Given the description of an element on the screen output the (x, y) to click on. 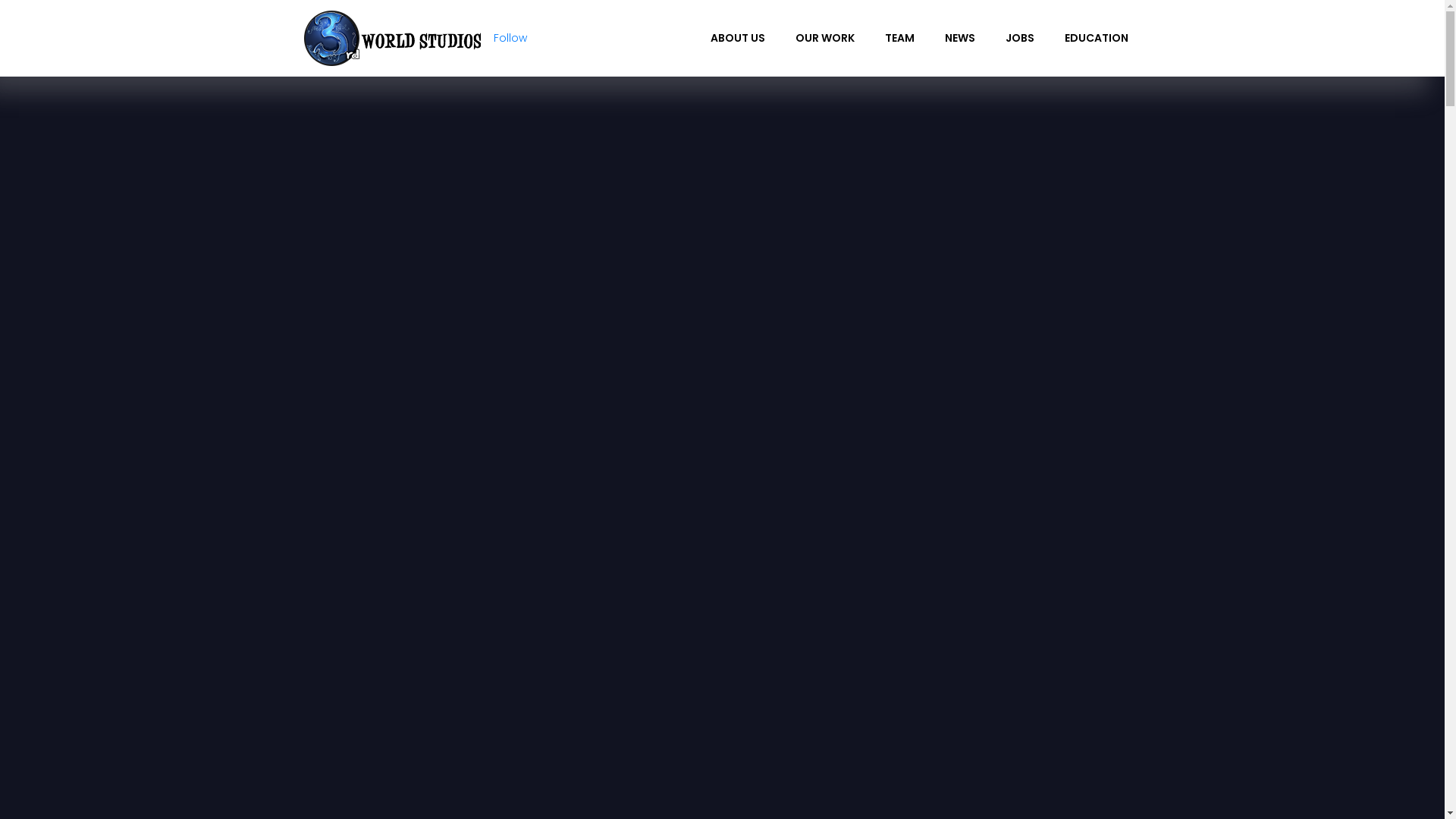
EDUCATION Element type: text (1096, 37)
ABOUT US Element type: text (736, 37)
OUR WORK Element type: text (824, 37)
Follow Element type: text (509, 38)
JOBS Element type: text (1019, 37)
TEAM Element type: text (898, 37)
NEWS Element type: text (959, 37)
